Given the description of an element on the screen output the (x, y) to click on. 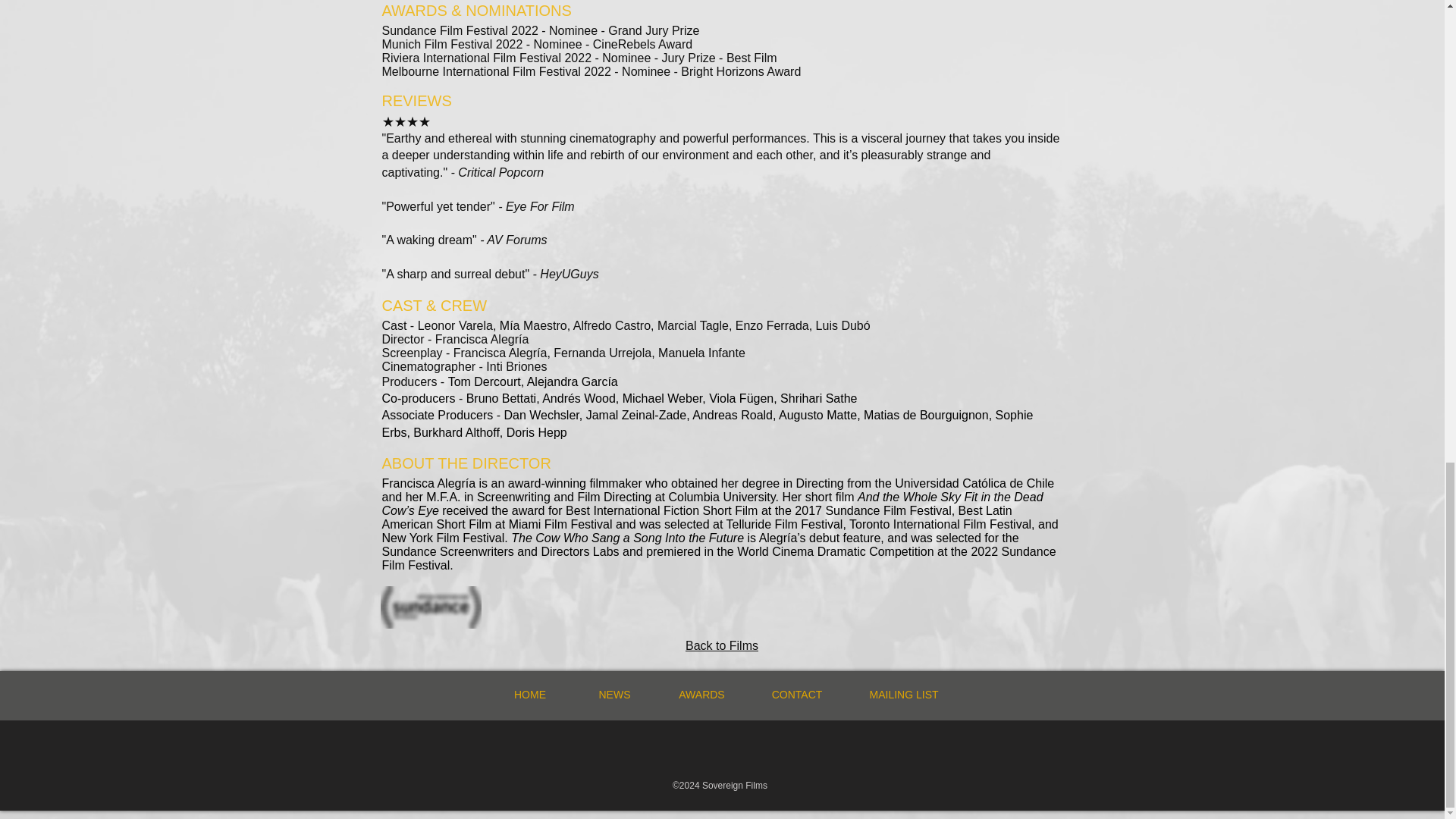
NEWS (613, 695)
Back to Films (721, 645)
HOME (529, 695)
AWARDS (700, 695)
CONTACT (796, 695)
MAILING LIST (903, 695)
